Given the description of an element on the screen output the (x, y) to click on. 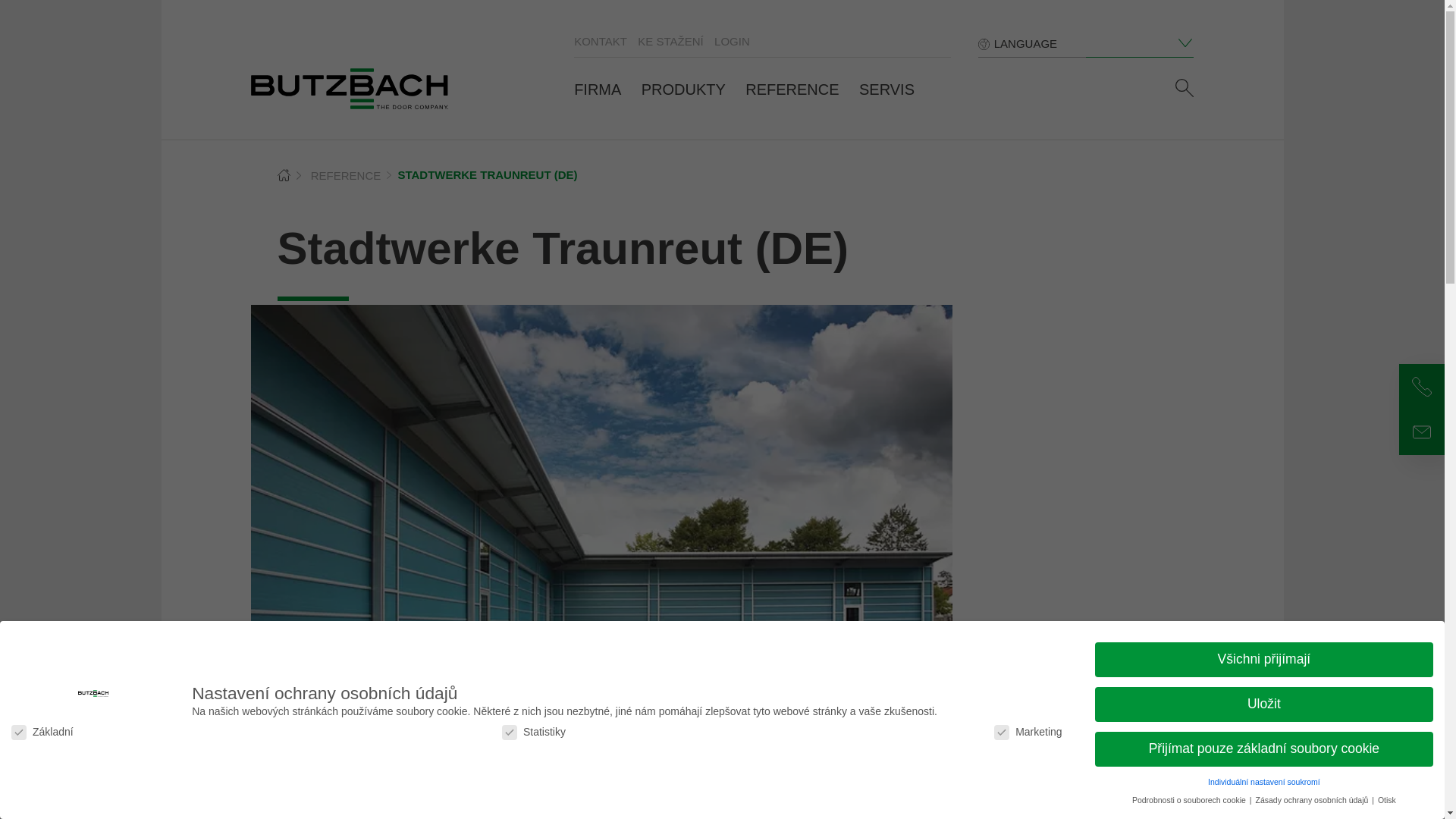
LOGIN (731, 41)
PRODUKTY (683, 89)
Reference (346, 174)
REFERENCE (791, 89)
FIRMA (597, 89)
SERVIS (886, 89)
KONTAKT (600, 41)
